Given the description of an element on the screen output the (x, y) to click on. 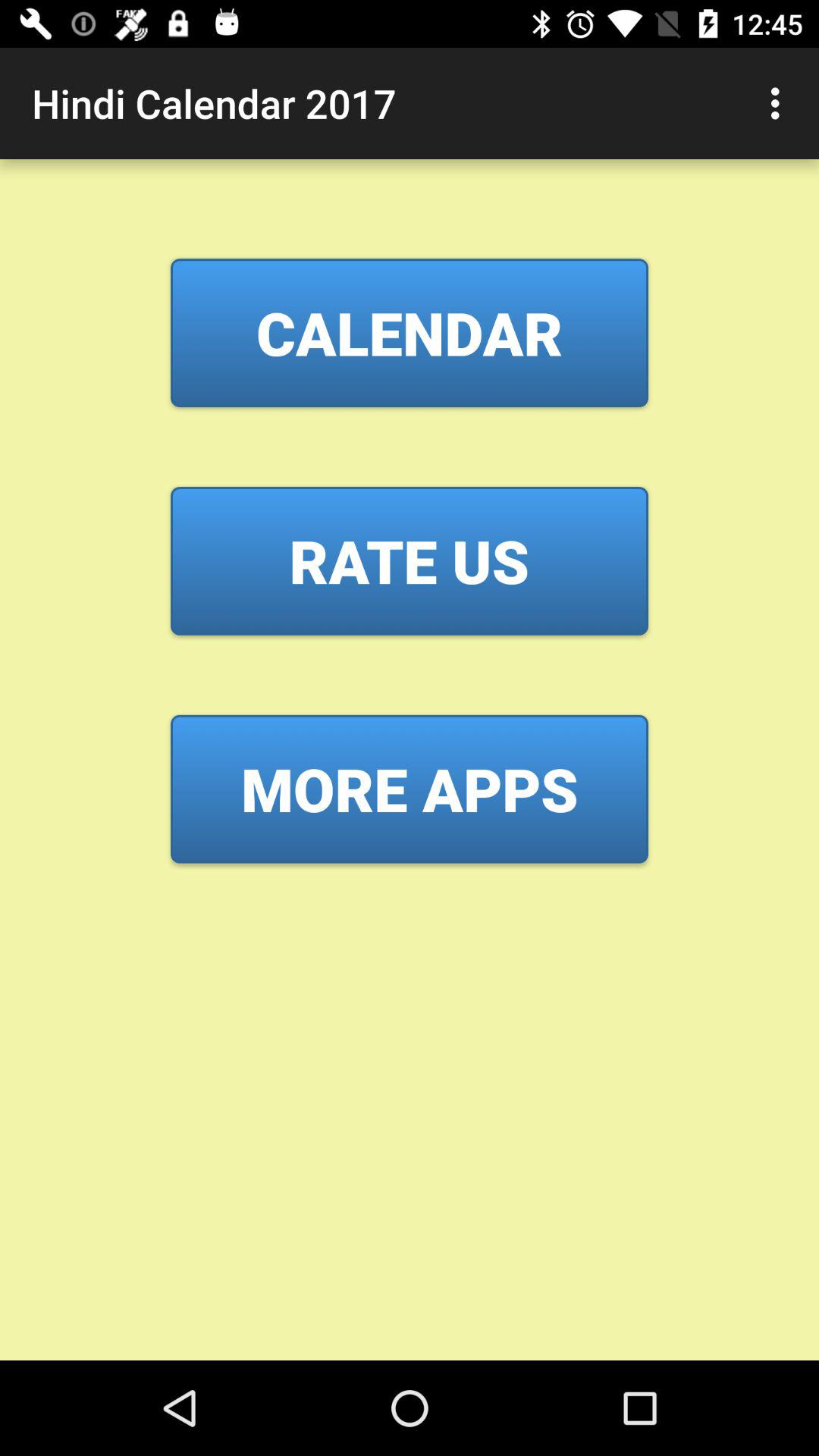
swipe until the rate us icon (409, 560)
